Given the description of an element on the screen output the (x, y) to click on. 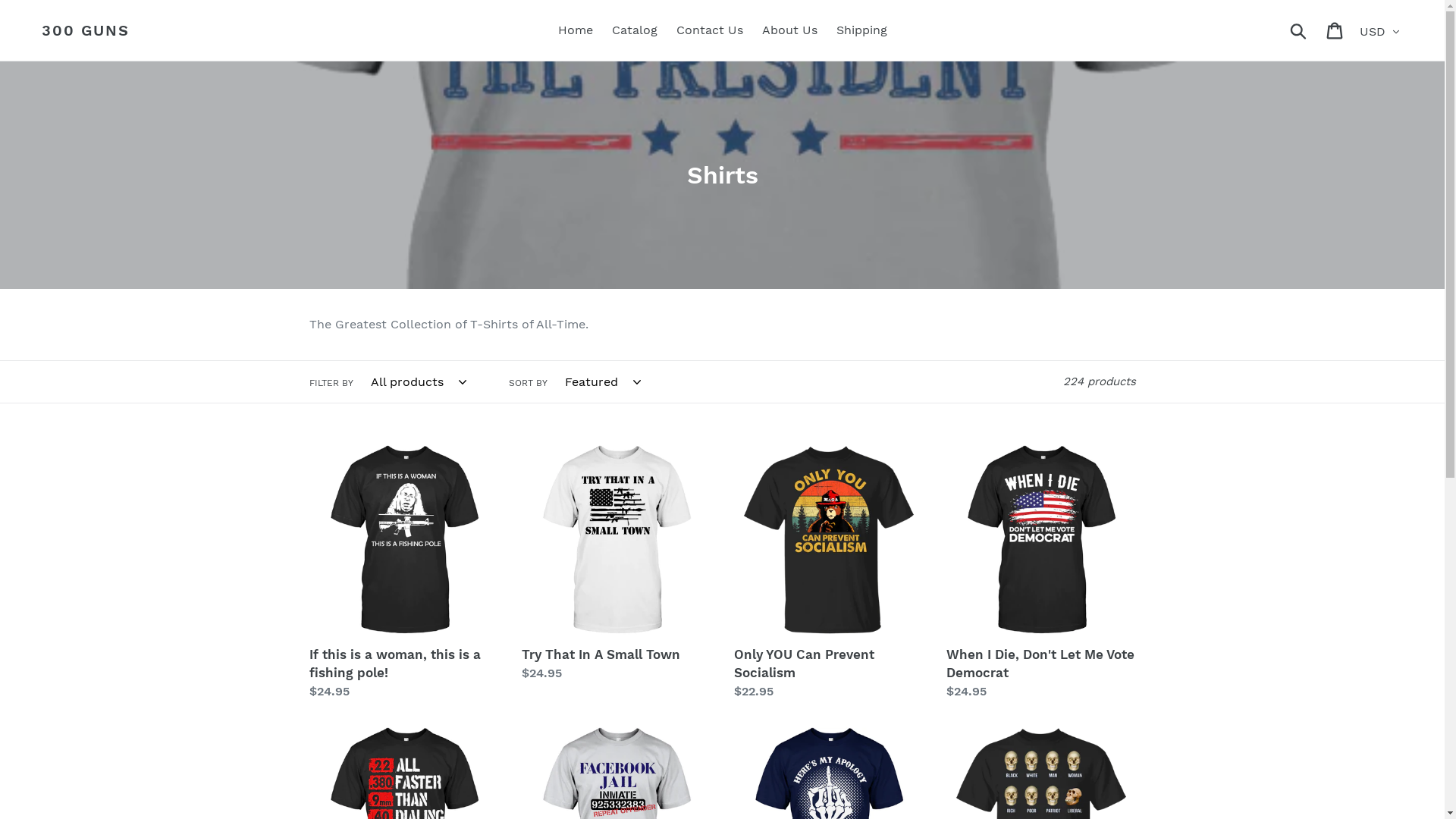
Submit Element type: text (1298, 30)
About Us Element type: text (788, 29)
Try That In A Small Town Element type: text (616, 563)
When I Die, Don't Let Me Vote Democrat Element type: text (1040, 572)
300 GUNS Element type: text (85, 30)
Home Element type: text (575, 29)
If this is a woman, this is a fishing pole! Element type: text (403, 572)
Catalog Element type: text (633, 29)
Contact Us Element type: text (709, 29)
Only YOU Can Prevent Socialism Element type: text (828, 572)
Cart Element type: text (1335, 30)
Shipping Element type: text (861, 29)
